Given the description of an element on the screen output the (x, y) to click on. 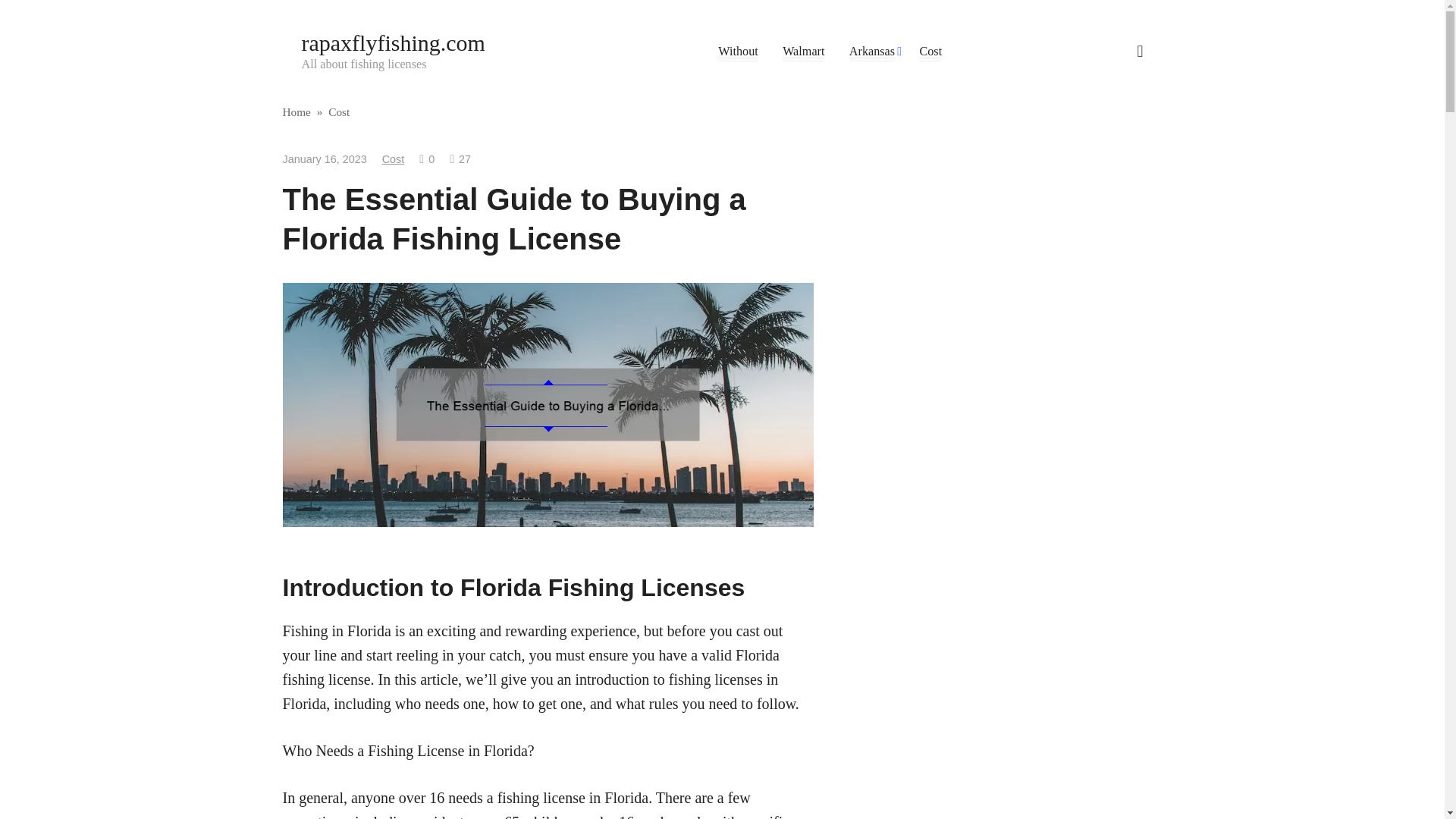
Cost (339, 111)
Cost (930, 51)
Cost (392, 159)
Arkansas (871, 51)
rapaxflyfishing.com (392, 42)
Without (737, 51)
Home (296, 111)
Walmart (803, 51)
